Given the description of an element on the screen output the (x, y) to click on. 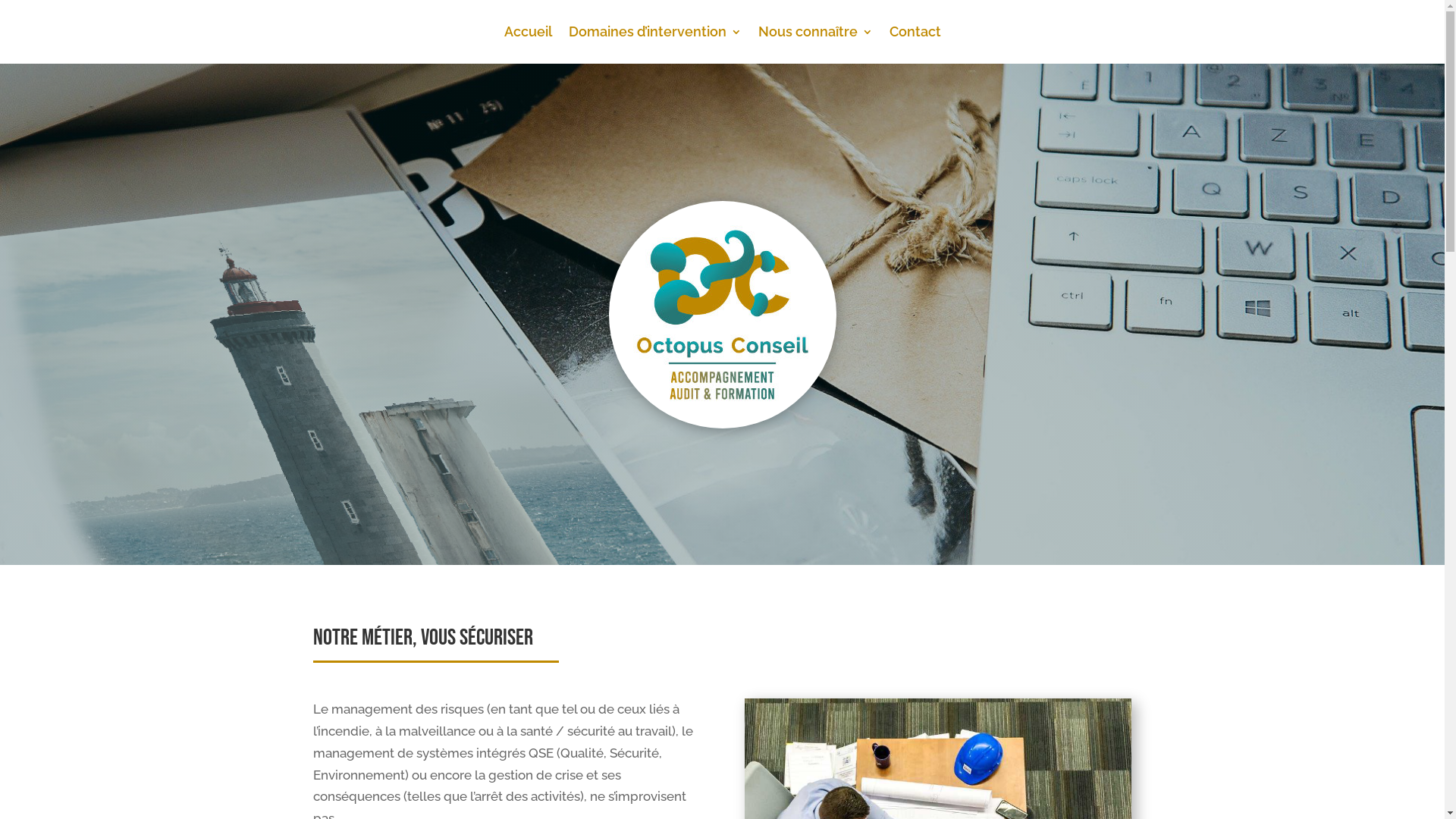
Contact Element type: text (914, 34)
Octopus_conseil_logo Element type: hover (721, 314)
Accueil Element type: text (527, 34)
